Given the description of an element on the screen output the (x, y) to click on. 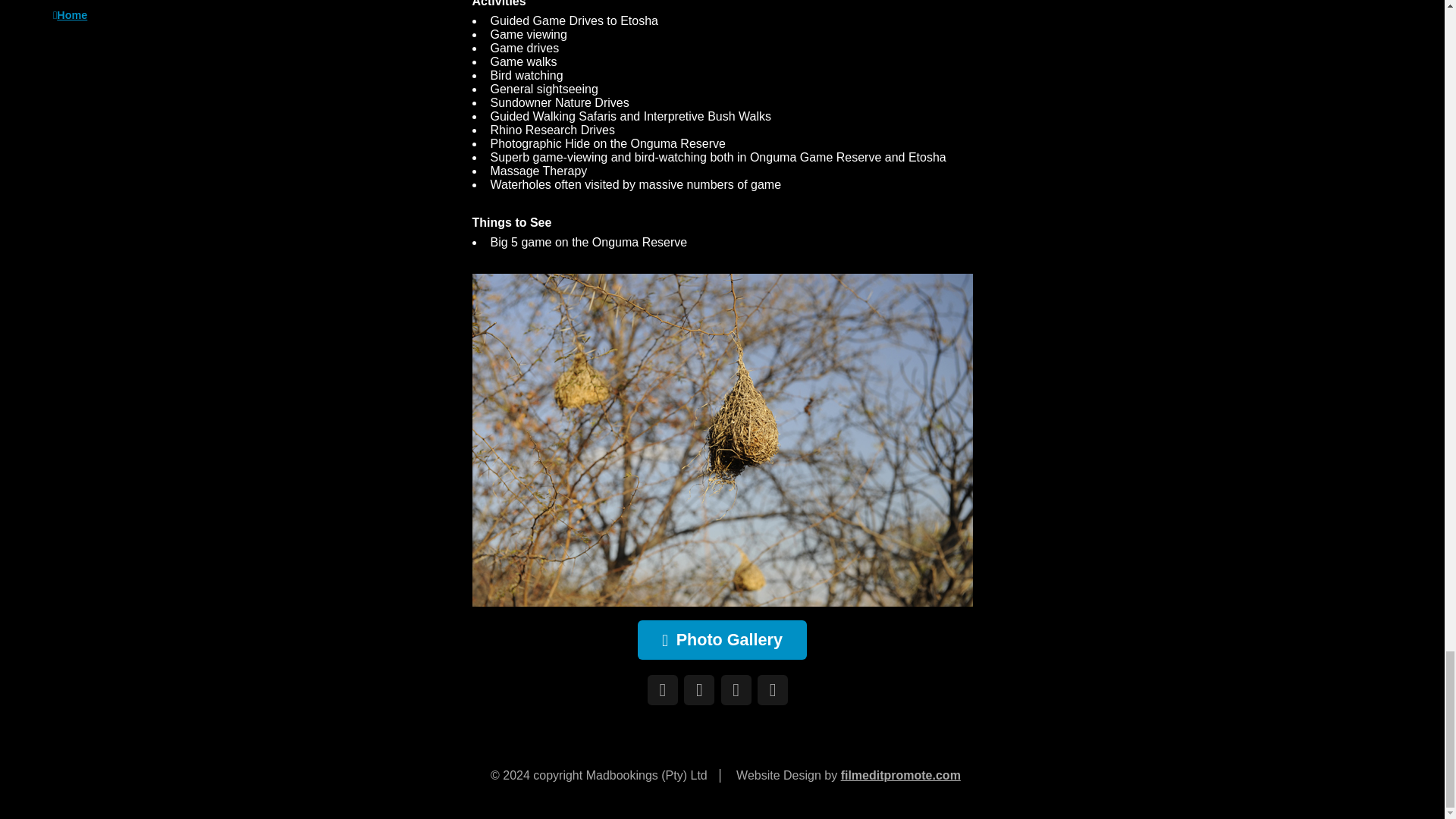
filmeditpromote.com (900, 775)
Photo Gallery (722, 639)
